Given the description of an element on the screen output the (x, y) to click on. 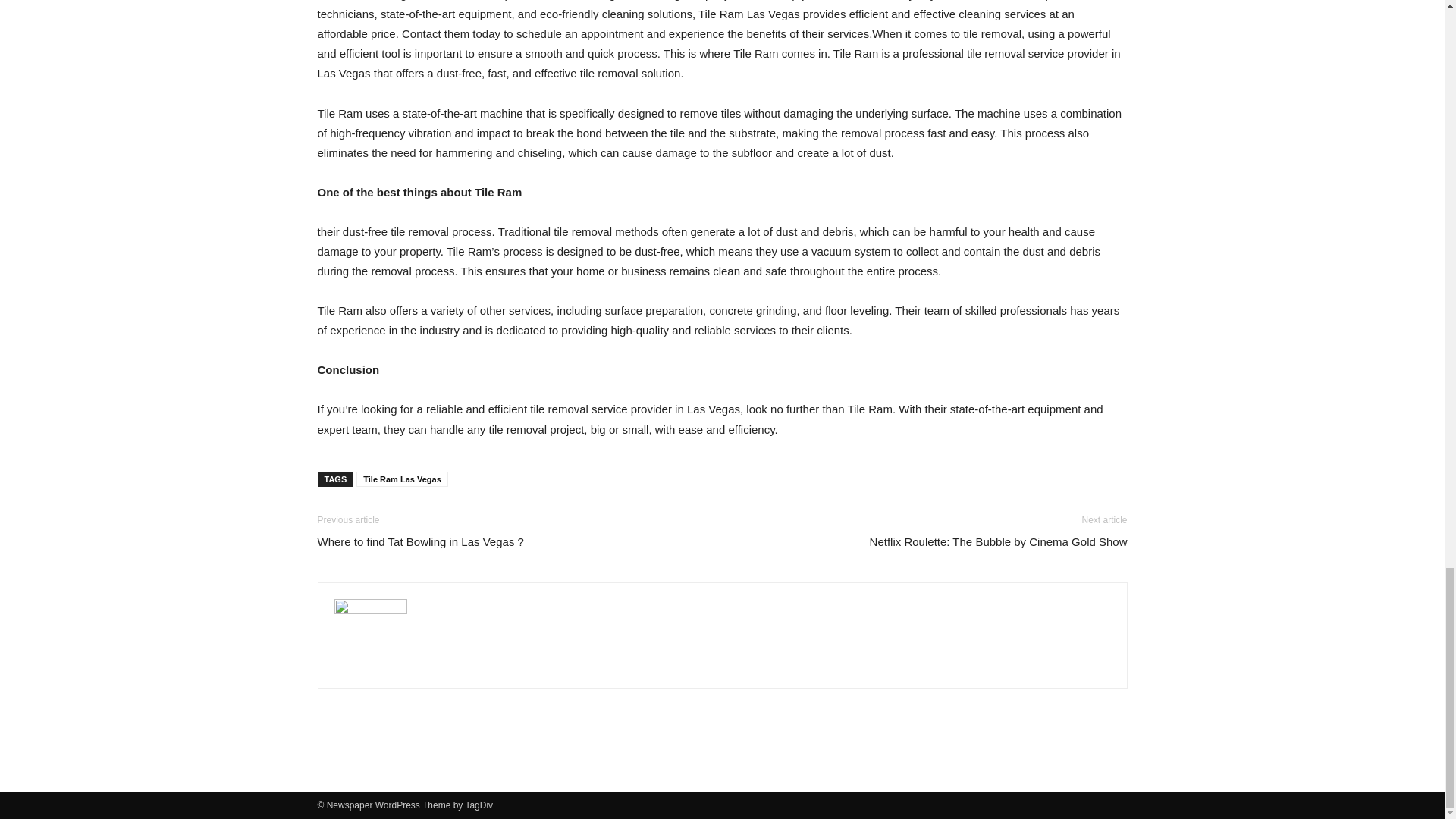
Where to find Tat Bowling in Las Vegas ? (419, 541)
Netflix Roulette: The Bubble by Cinema Gold Show (997, 541)
Tile Ram Las Vegas (402, 478)
